Given the description of an element on the screen output the (x, y) to click on. 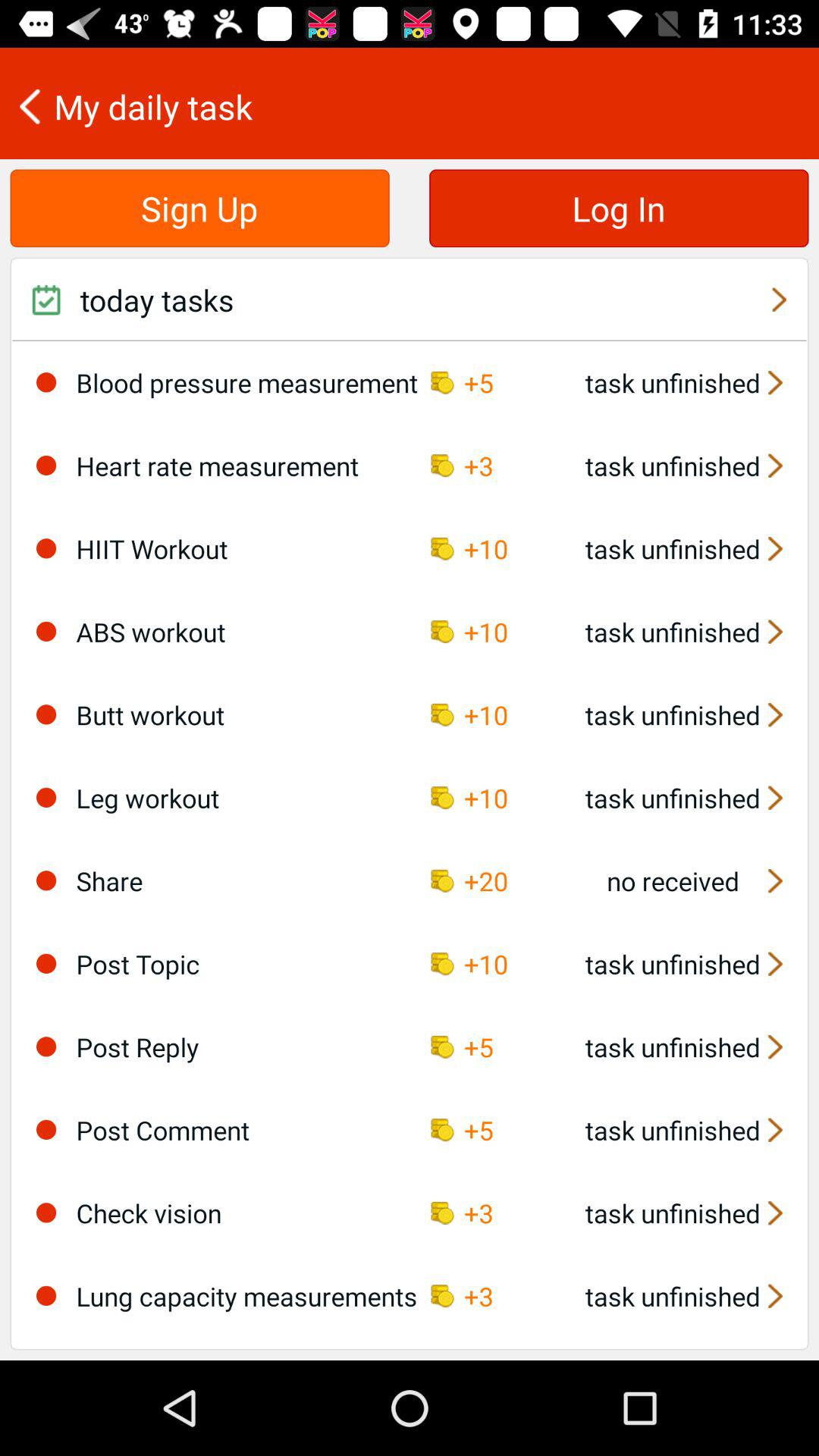
select this option (46, 963)
